Given the description of an element on the screen output the (x, y) to click on. 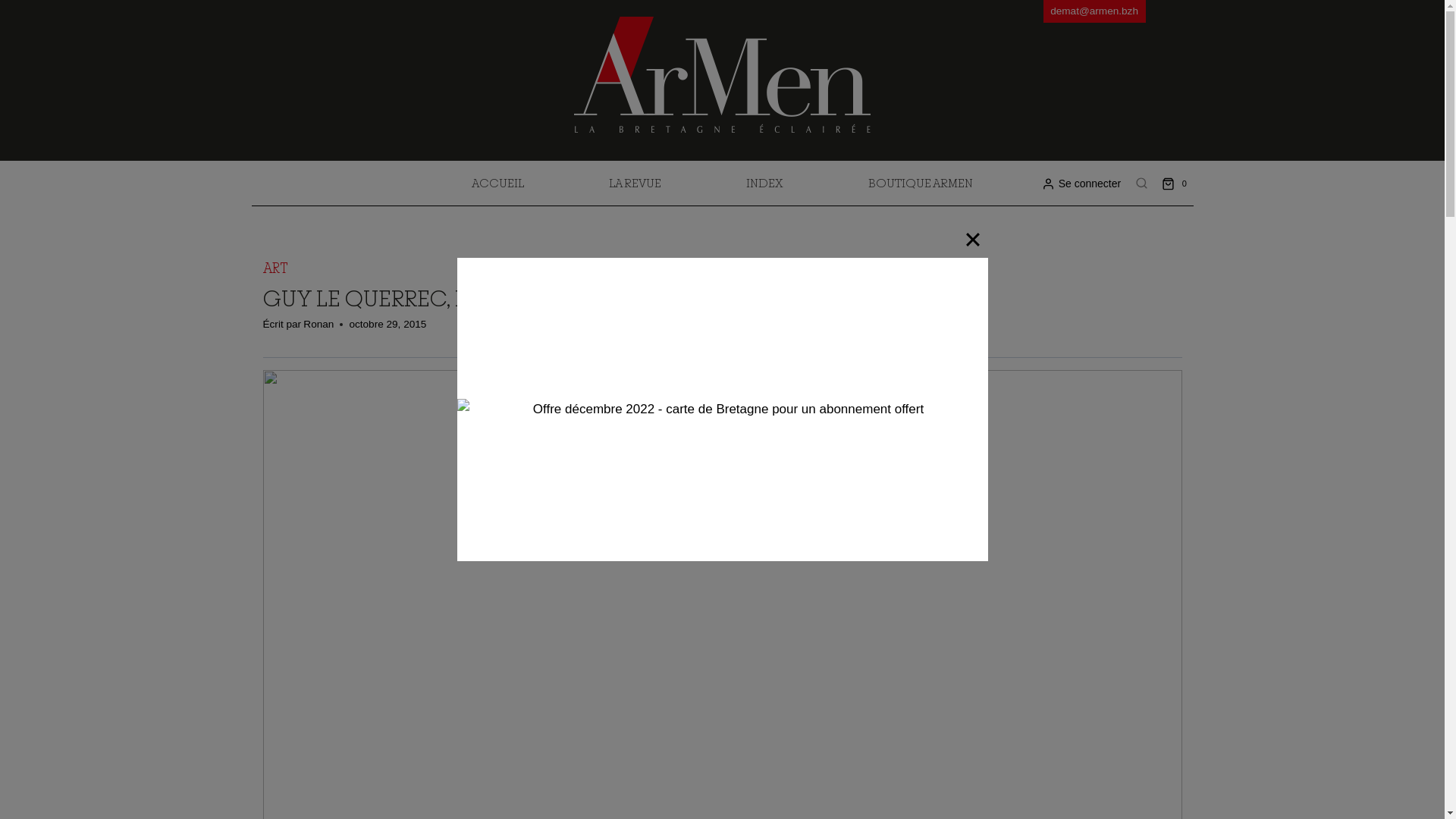
0 Element type: text (1176, 182)
Ronan Element type: text (318, 323)
ACCUEIL Element type: text (497, 182)
Se connecter Element type: text (1081, 183)
demat@armen.bzh Element type: text (1094, 11)
INDEX Element type: text (764, 182)
ART Element type: text (275, 267)
LA REVUE Element type: text (634, 182)
BOUTIQUE ARMEN Element type: text (920, 182)
